Given the description of an element on the screen output the (x, y) to click on. 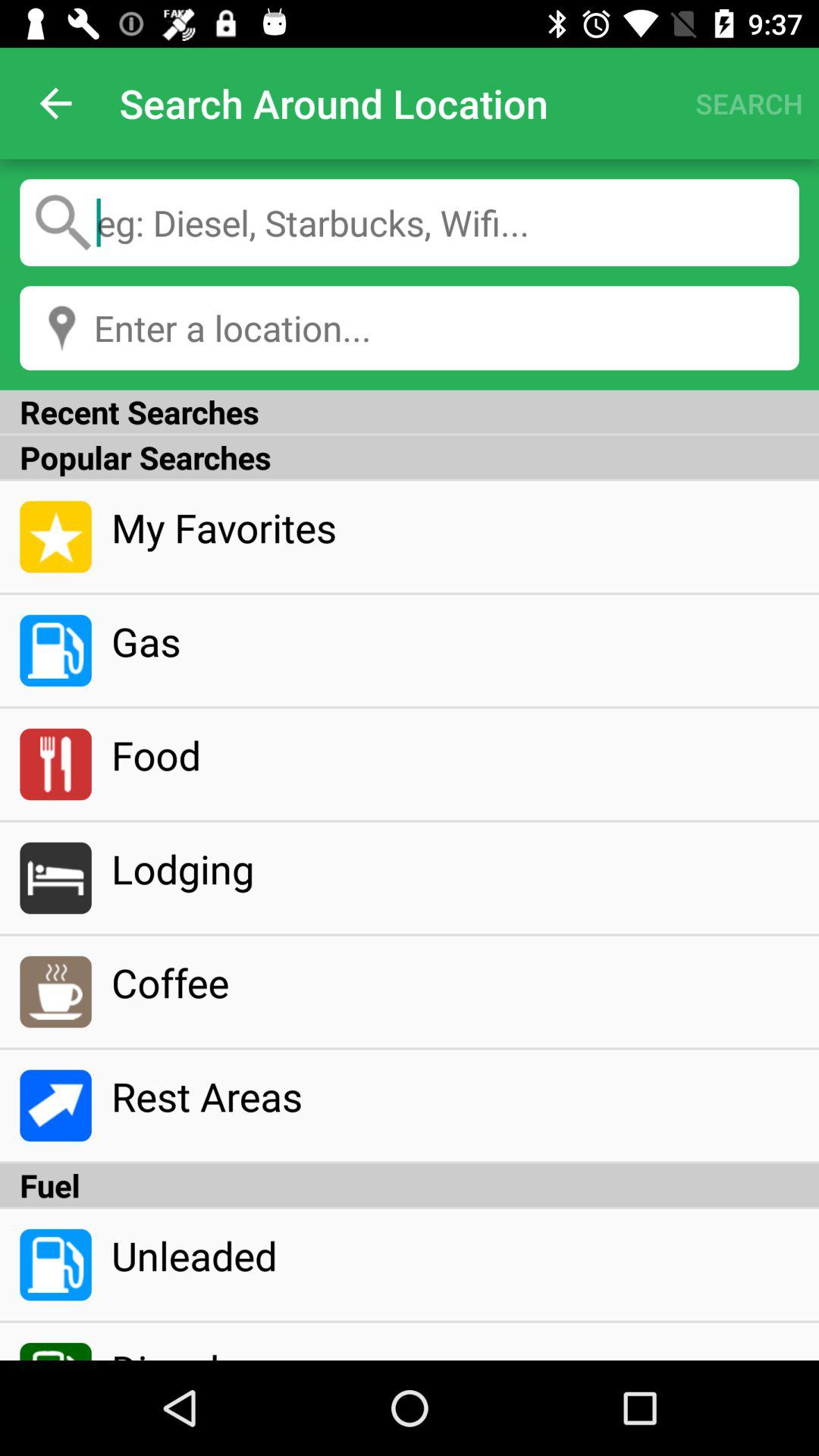
turn on the icon above the lodging icon (455, 754)
